Given the description of an element on the screen output the (x, y) to click on. 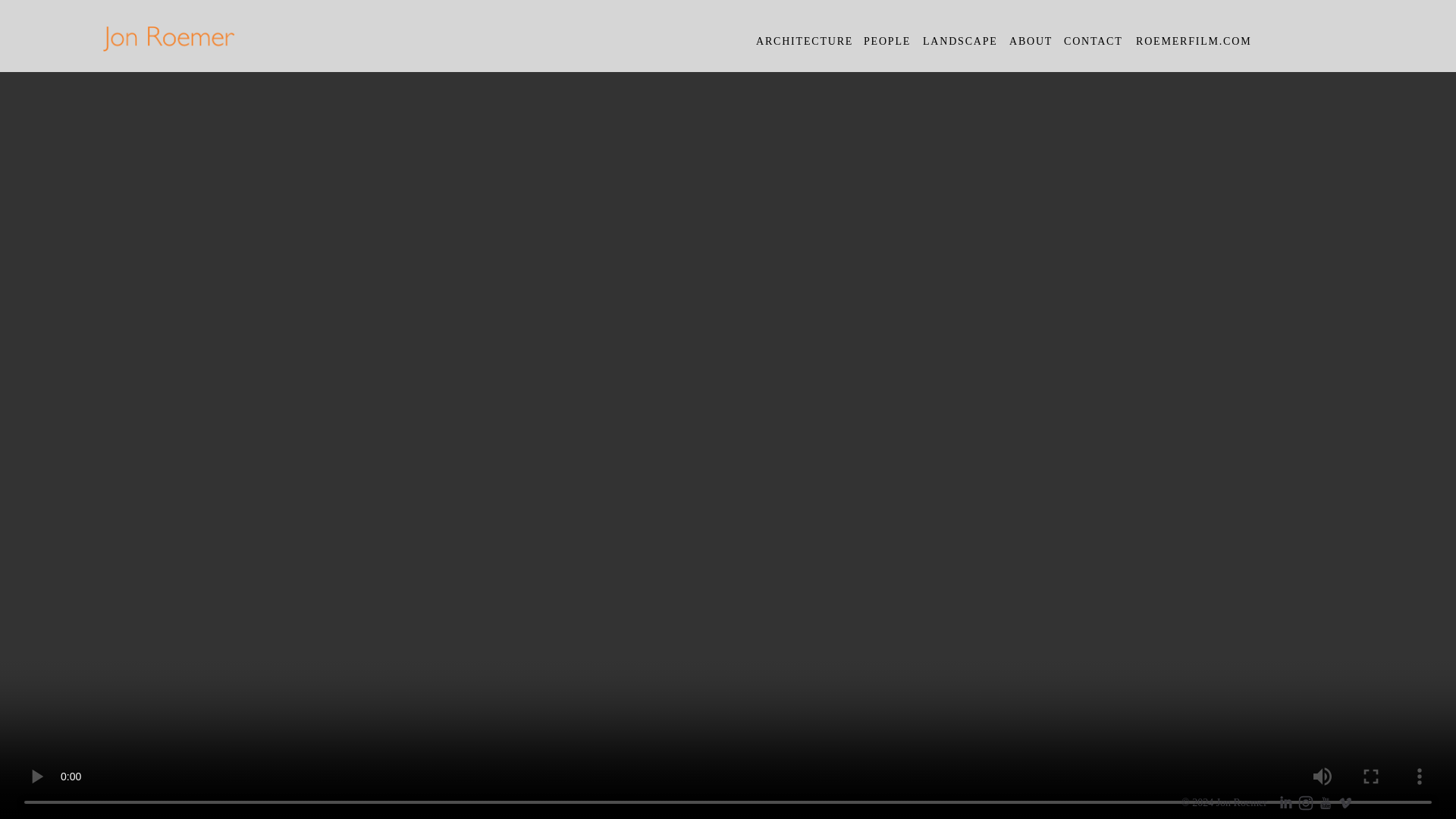
LANDSCAPE (960, 41)
ABOUT (1030, 41)
CONTACT (1093, 41)
PEOPLE (887, 41)
ROEMERFILM.COM (1192, 41)
ARCHITECTURE (804, 41)
